Given the description of an element on the screen output the (x, y) to click on. 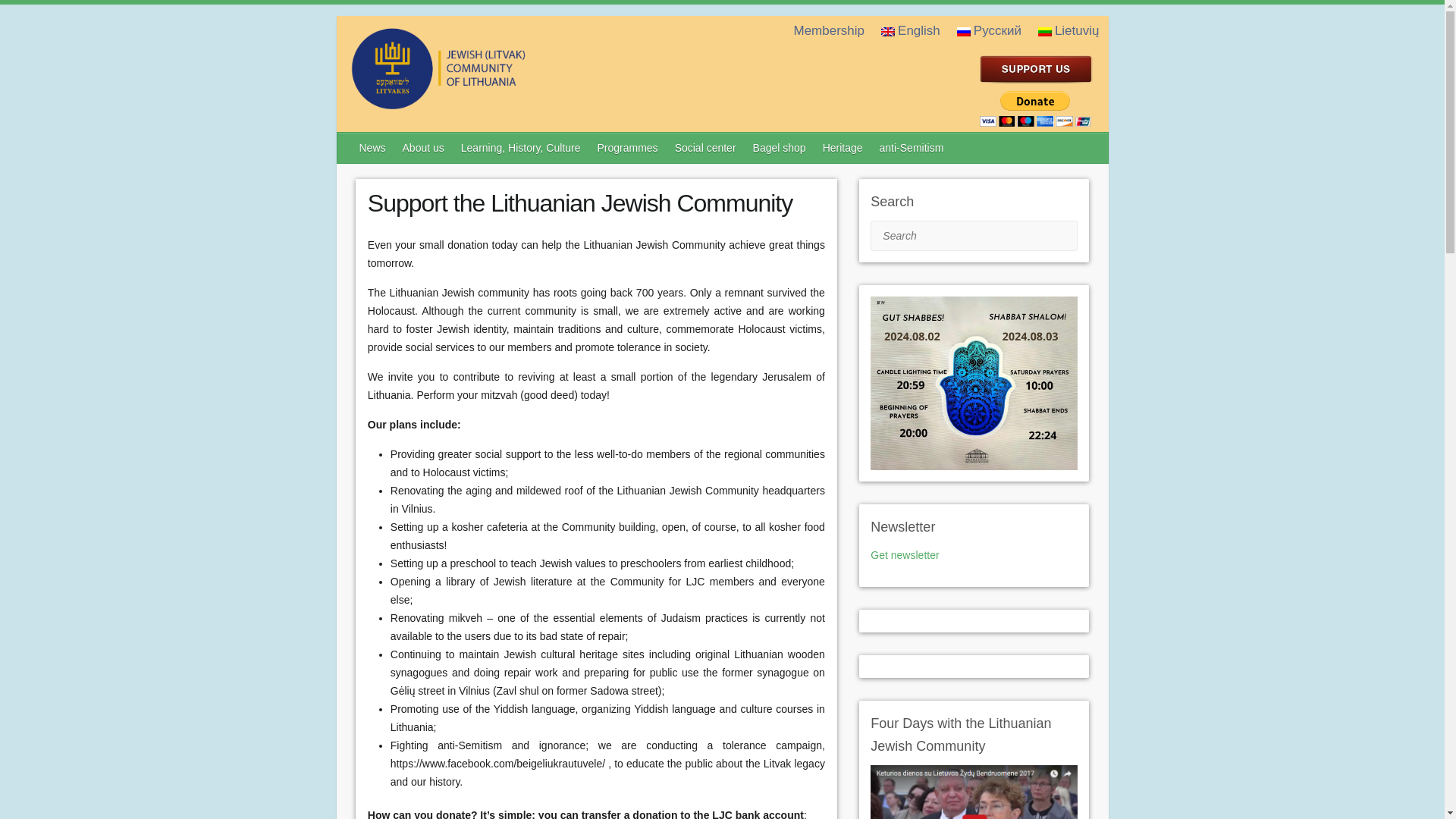
Get newsletter (904, 554)
English (887, 31)
Bagel shop (780, 147)
Social center (705, 147)
Heritage (843, 147)
English (911, 30)
About us (423, 147)
Lithuanian Jewish Community (499, 102)
anti-Semitism (912, 147)
Programmes (627, 147)
